Given the description of an element on the screen output the (x, y) to click on. 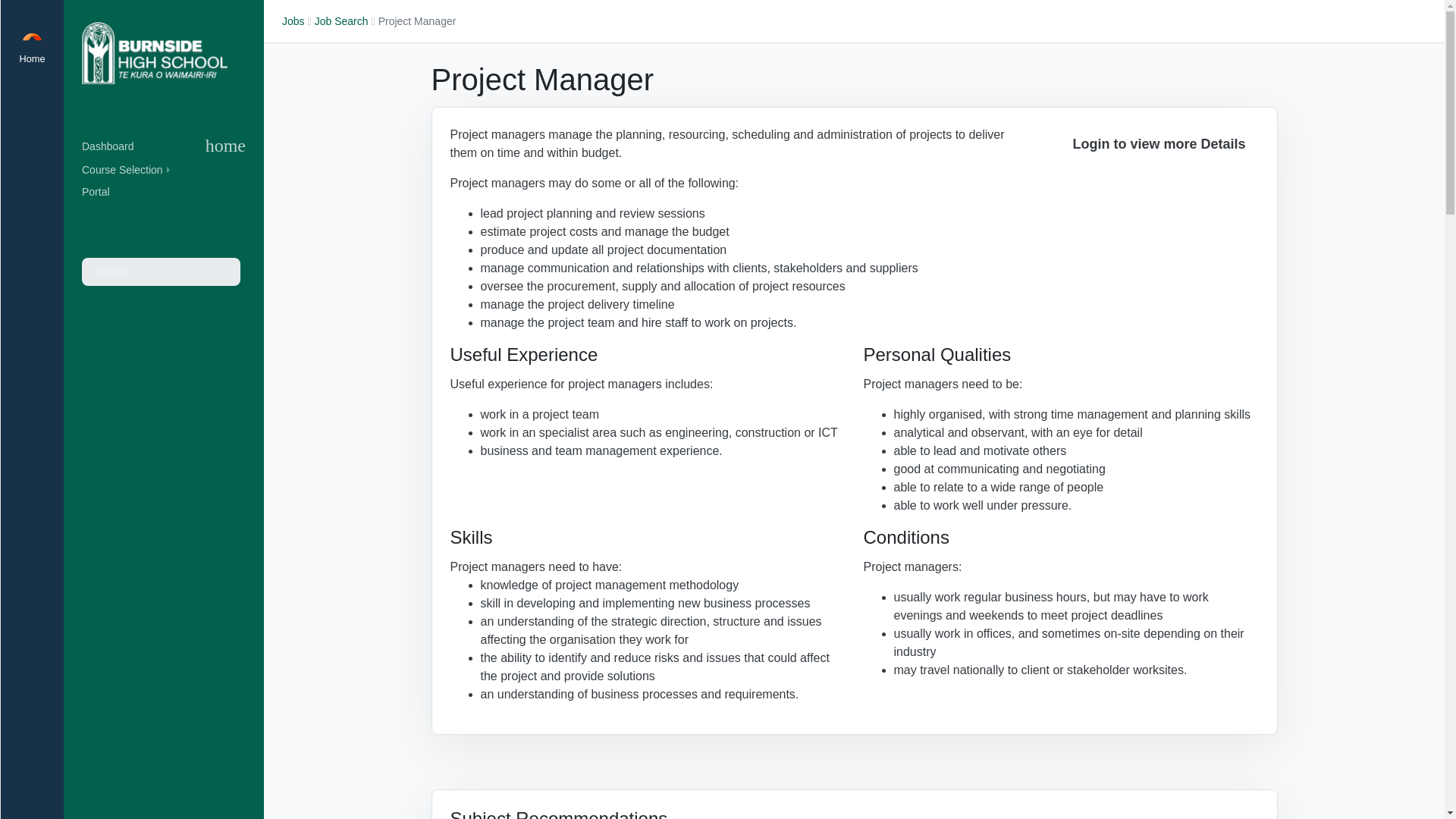
Jobs (293, 21)
Jobs (293, 21)
SchoolBridge Dashboard (32, 32)
Job Search (341, 21)
Portal (163, 191)
Course Selection (163, 169)
Home (32, 32)
Login to view more Details (1158, 144)
Burnside High School (154, 53)
home (225, 145)
Dashboard (114, 146)
Job Search (341, 21)
